Given the description of an element on the screen output the (x, y) to click on. 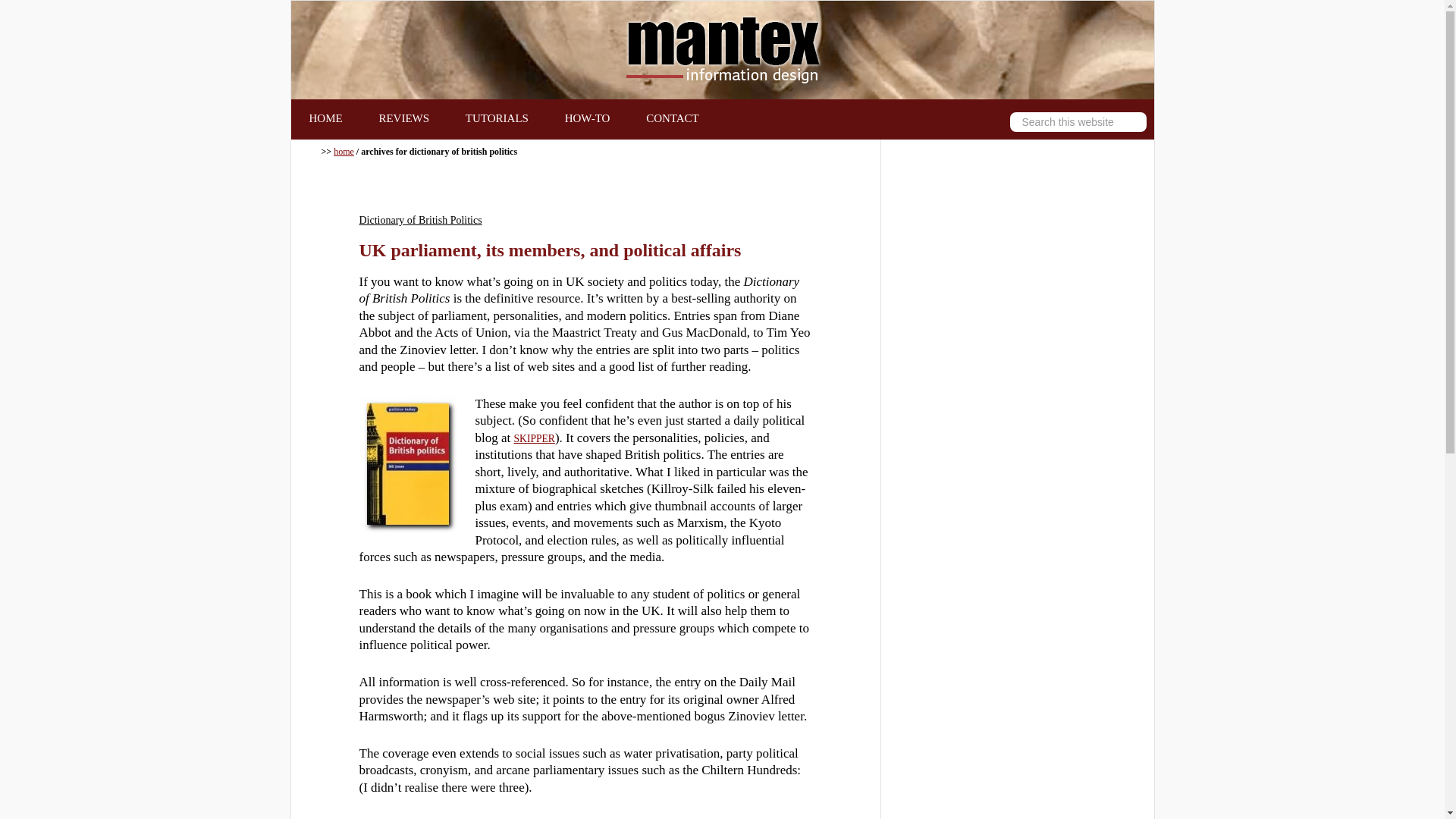
SKIPPER (533, 437)
HOME (326, 118)
REVIEWS (402, 118)
CONTACT (672, 118)
HOW-TO (587, 118)
home (343, 151)
Dictionary of British Politics (420, 220)
TUTORIALS (496, 118)
MANTEX (722, 49)
